Given the description of an element on the screen output the (x, y) to click on. 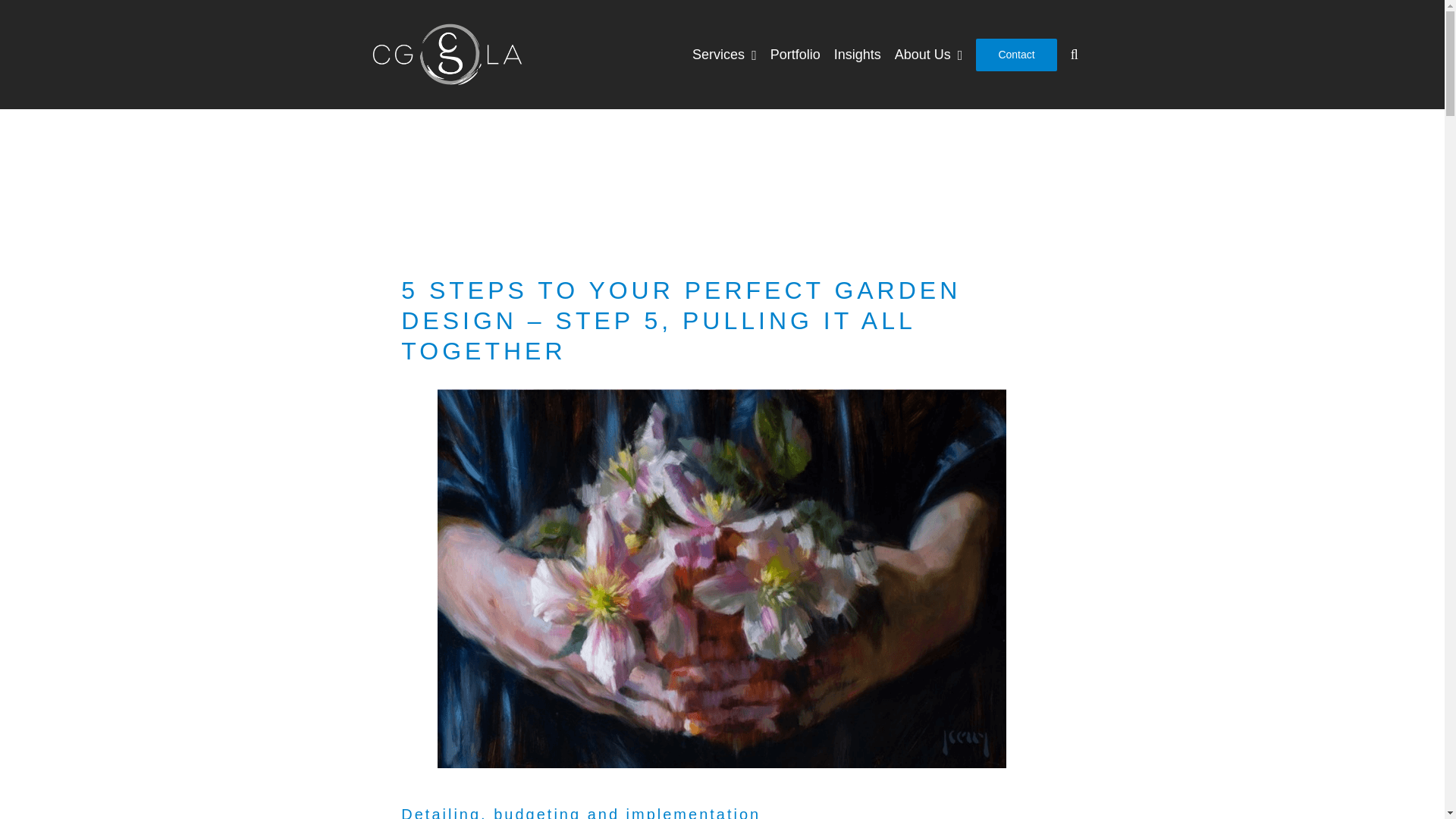
About Us (928, 54)
Contact (1016, 54)
Services (725, 54)
